Given the description of an element on the screen output the (x, y) to click on. 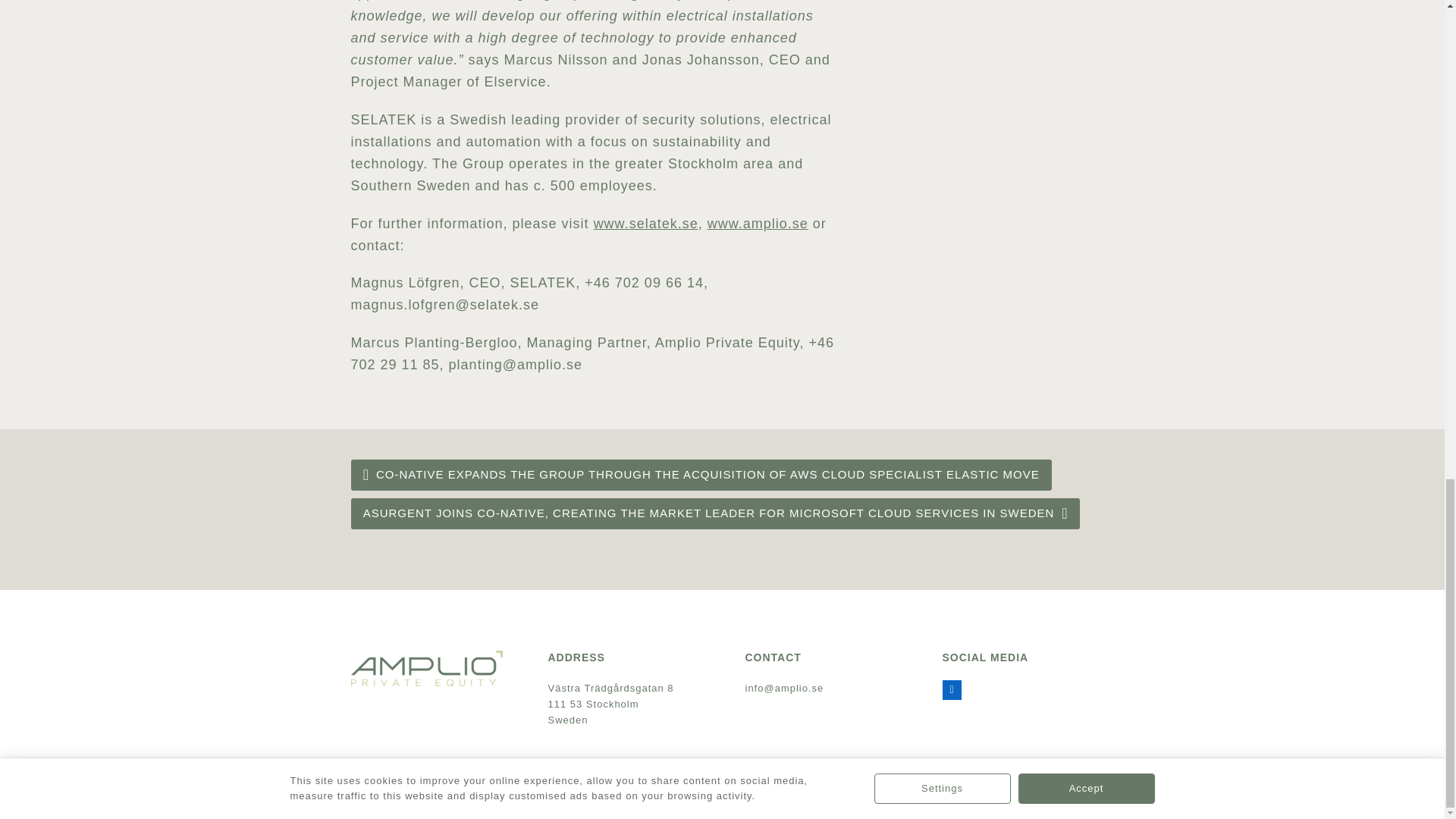
Privacy Policy (1060, 795)
designrepublic.se (440, 795)
www.amplio.se (757, 222)
www.selatek.se (646, 222)
.se (816, 687)
LinkedIn (951, 690)
LinkedIn (951, 690)
